Given the description of an element on the screen output the (x, y) to click on. 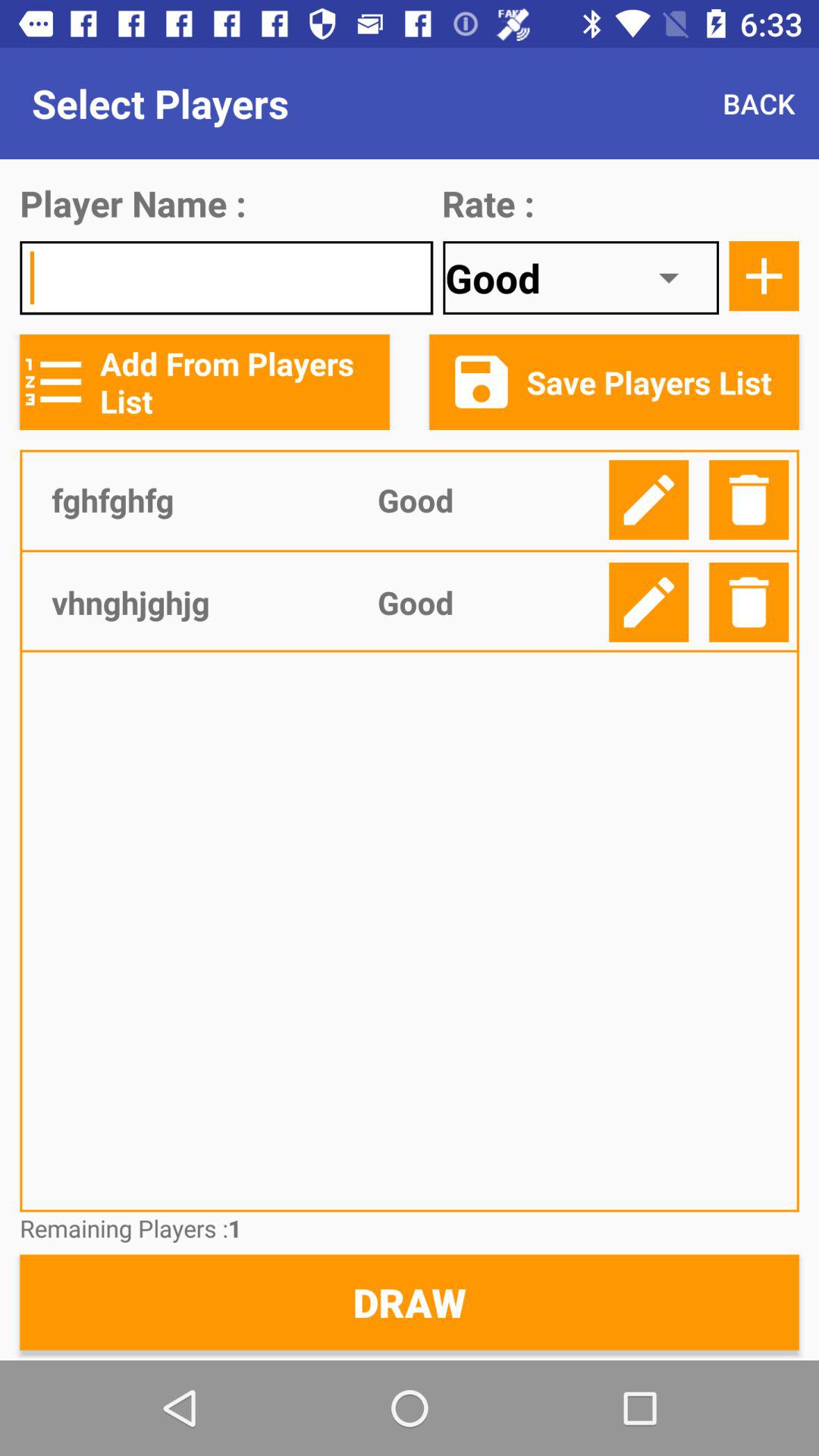
enter details (648, 602)
